Given the description of an element on the screen output the (x, y) to click on. 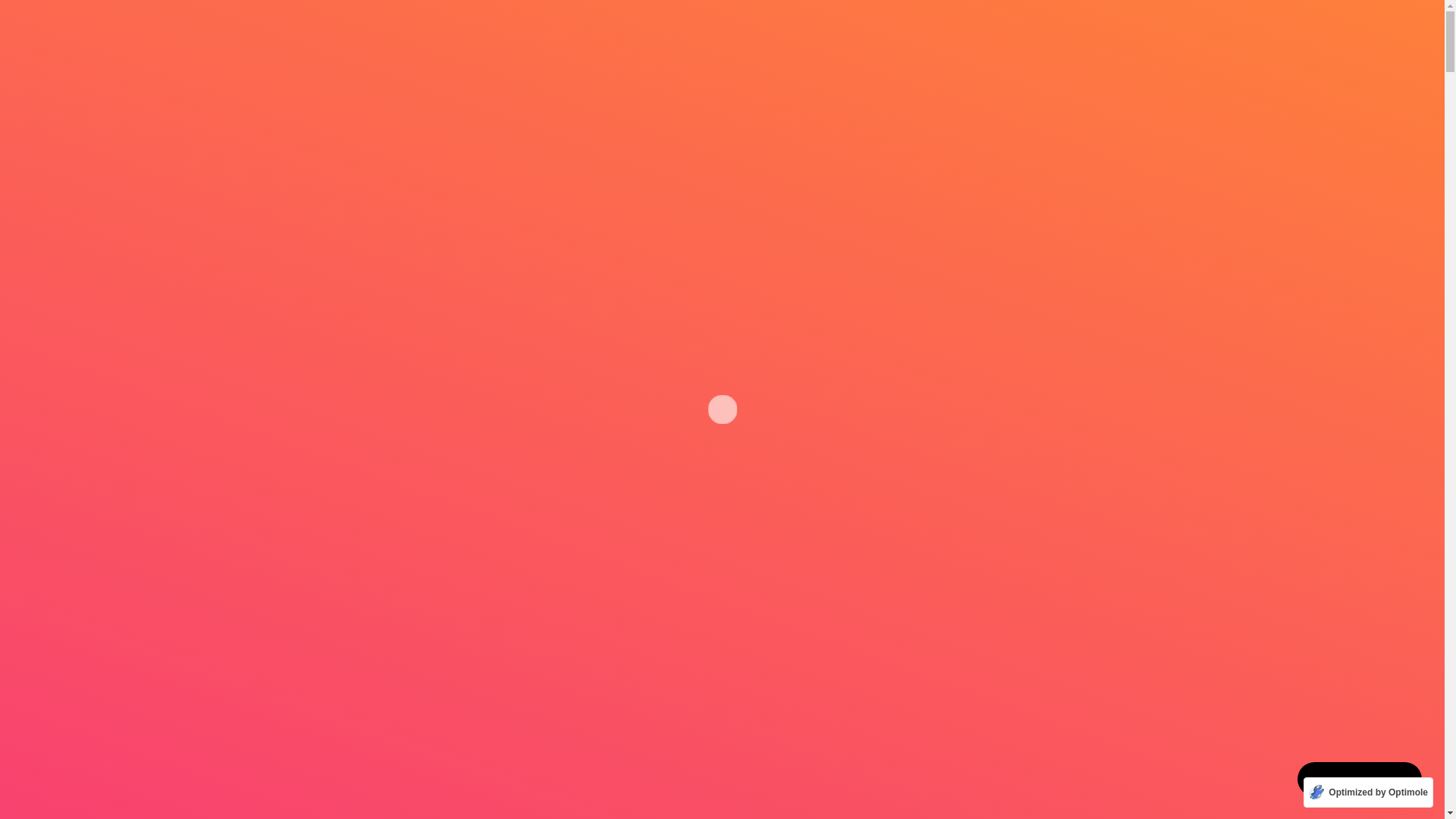
popup modal for search (1117, 205)
Home (329, 259)
LIFESTYLE (529, 205)
CONTACT US (794, 205)
ABOUT US (694, 205)
Tech (379, 259)
Earburnc (424, 406)
TECHNOLOGY (425, 205)
TECH (320, 405)
